Given the description of an element on the screen output the (x, y) to click on. 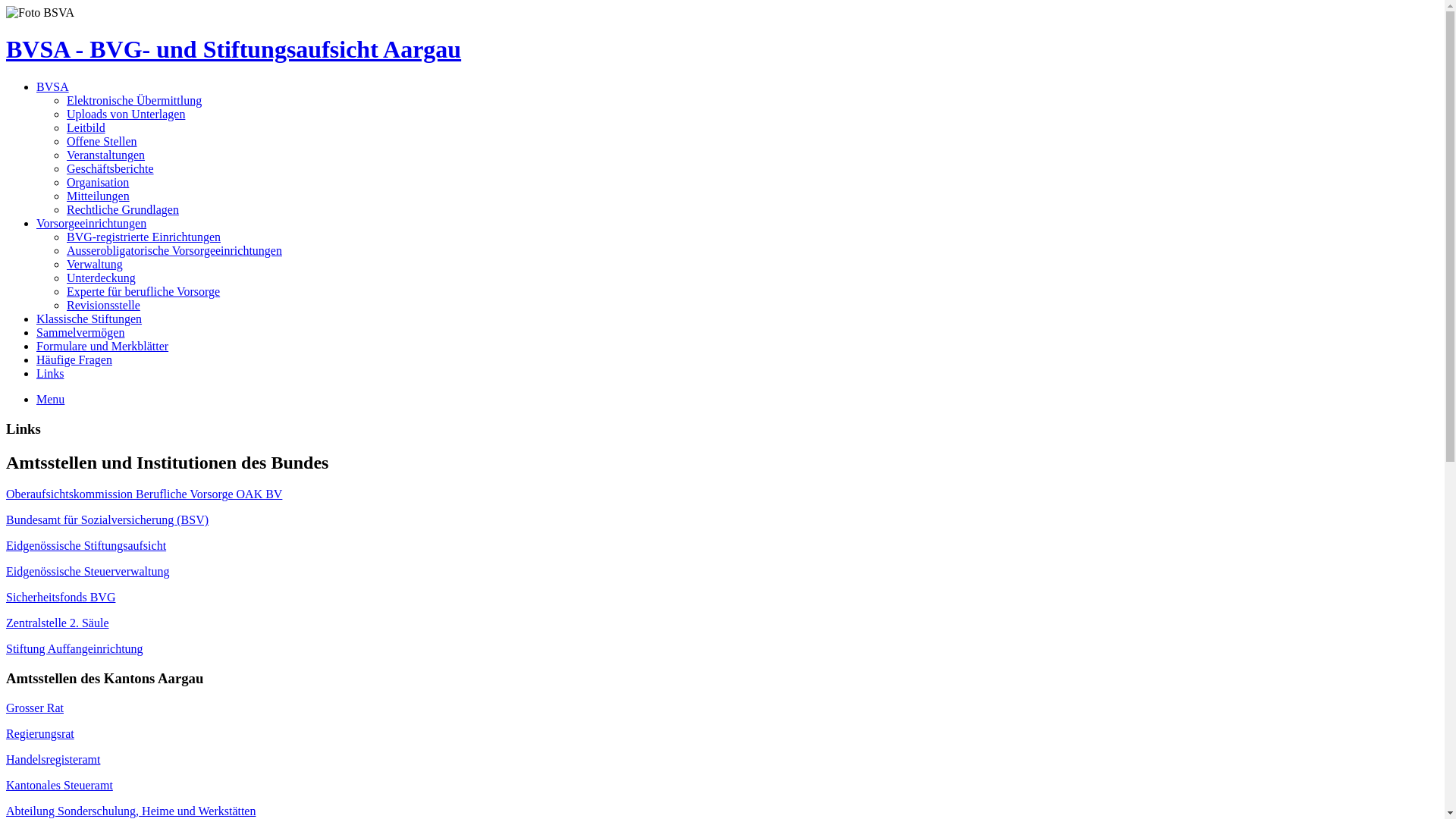
Mitteilungen Element type: text (97, 195)
Ausserobligatorische Vorsorgeeinrichtungen Element type: text (174, 250)
Revisionsstelle Element type: text (103, 304)
Sicherheitsfonds BVG Element type: text (60, 596)
Leitbild Element type: text (85, 127)
Handelsregisteramt Element type: text (53, 759)
Kantonales Steueramt Element type: text (59, 784)
Organisation Element type: text (97, 181)
Offene Stellen Element type: text (101, 140)
Klassische Stiftungen Element type: text (88, 318)
Regierungsrat Element type: text (40, 733)
BVSA - BVG- und Stiftungsaufsicht Aargau Element type: text (722, 49)
Veranstaltungen Element type: text (105, 154)
BVG-registrierte Einrichtungen Element type: text (143, 236)
Menu Element type: text (50, 398)
BVSA Element type: text (52, 86)
Grosser Rat Element type: text (34, 707)
Stiftung Auffangeinrichtung Element type: text (74, 648)
Links Element type: text (49, 373)
Rechtliche Grundlagen Element type: text (122, 209)
Verwaltung Element type: text (94, 263)
Unterdeckung Element type: text (100, 277)
Vorsorgeeinrichtungen Element type: text (91, 222)
Oberaufsichtskommission Berufliche Vorsorge OAK BV Element type: text (144, 493)
Uploads von Unterlagen Element type: text (125, 113)
